Given the description of an element on the screen output the (x, y) to click on. 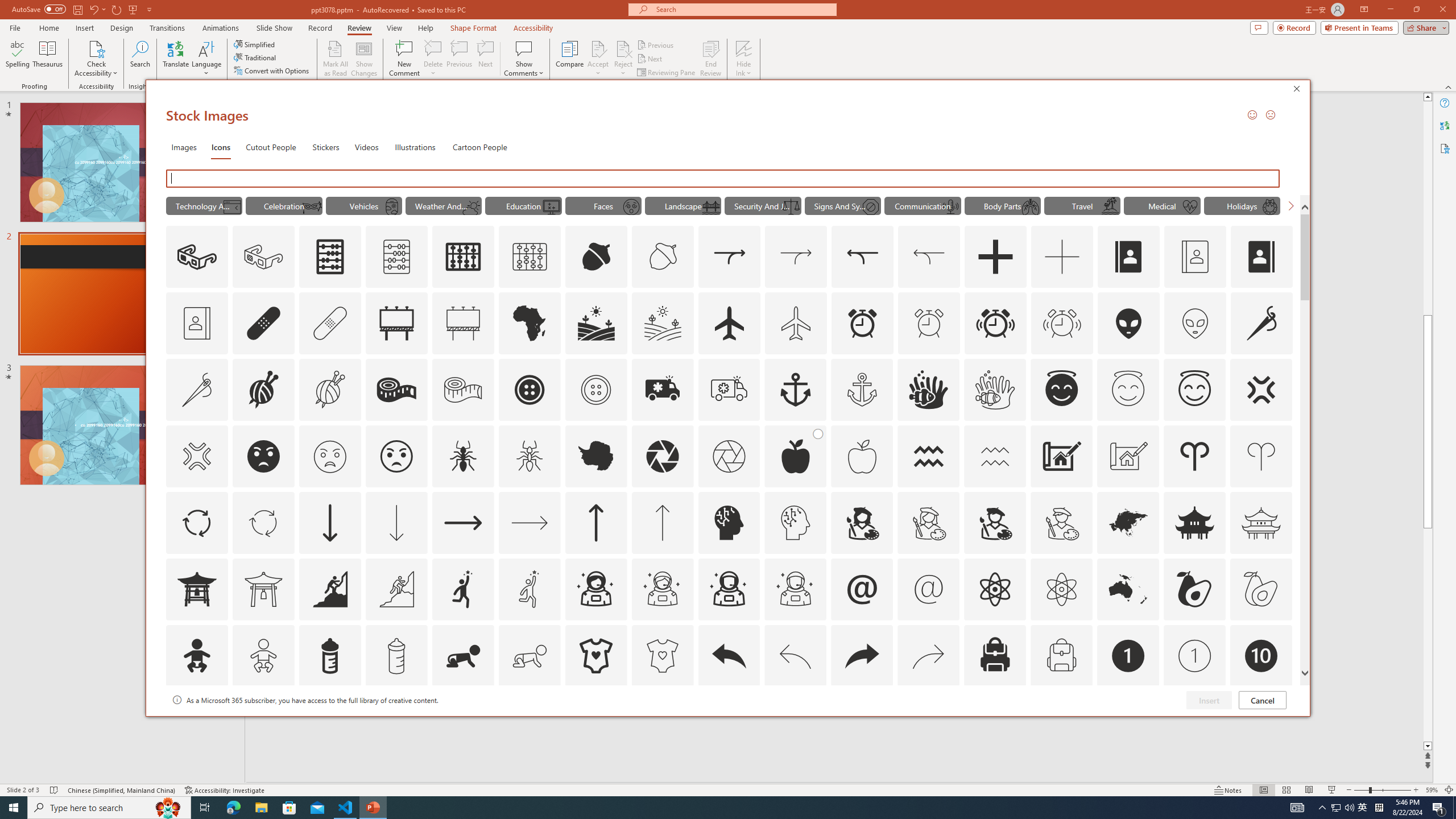
AutomationID: Icons_Badge5_M (729, 721)
AutomationID: Icons_ArtistFemale (861, 522)
Traditional (255, 56)
AutomationID: Icons_Add_M (1062, 256)
AutomationID: Icons_AdhesiveBandage_M (330, 323)
AutomationID: Icons_Aries (1194, 455)
AutomationID: Icons (1260, 721)
Stickers (326, 146)
AutomationID: Icons_AdhesiveBandage (263, 323)
